Given the description of an element on the screen output the (x, y) to click on. 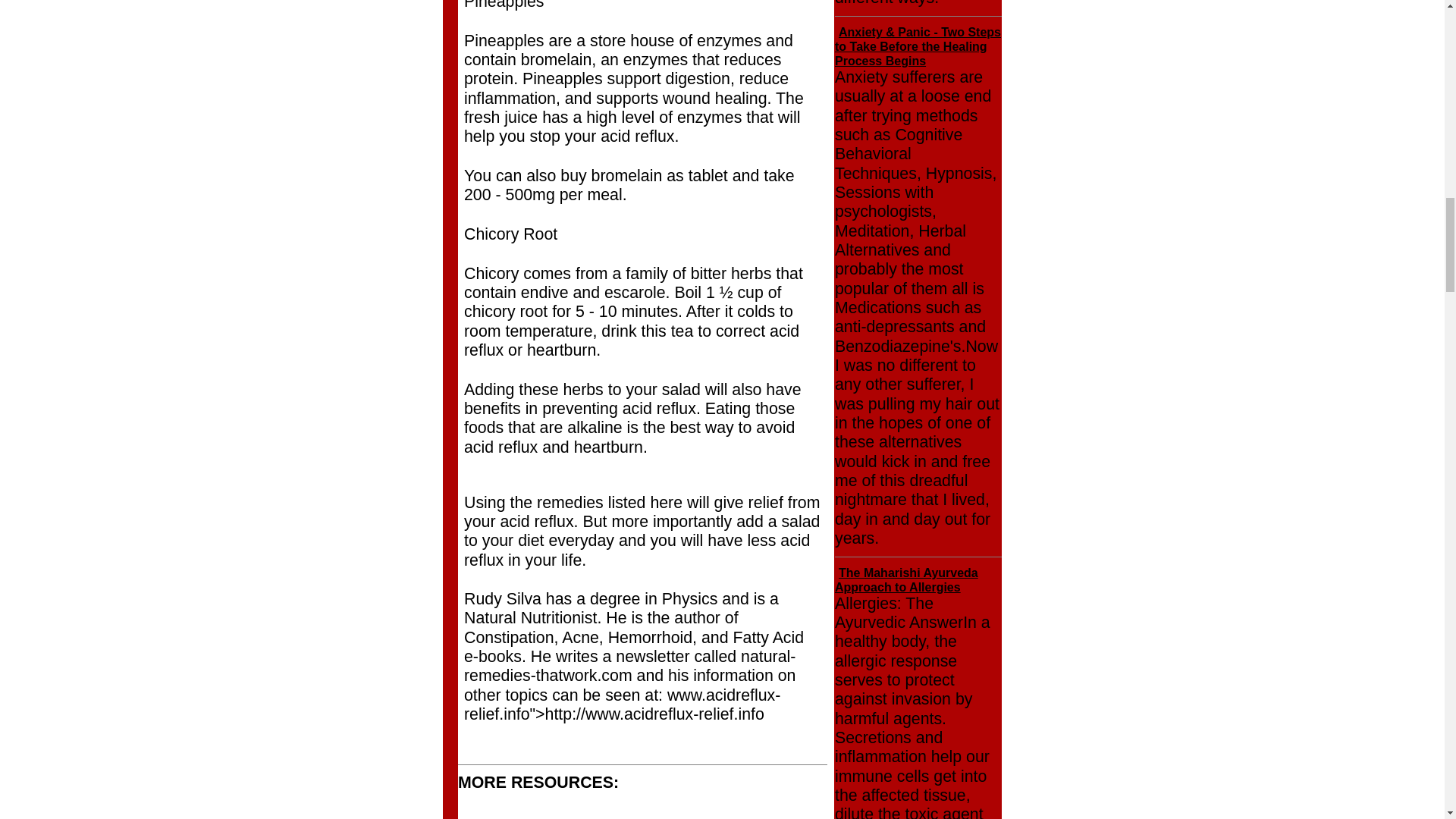
The Maharishi Ayurveda Approach to Allergies (906, 579)
